Given the description of an element on the screen output the (x, y) to click on. 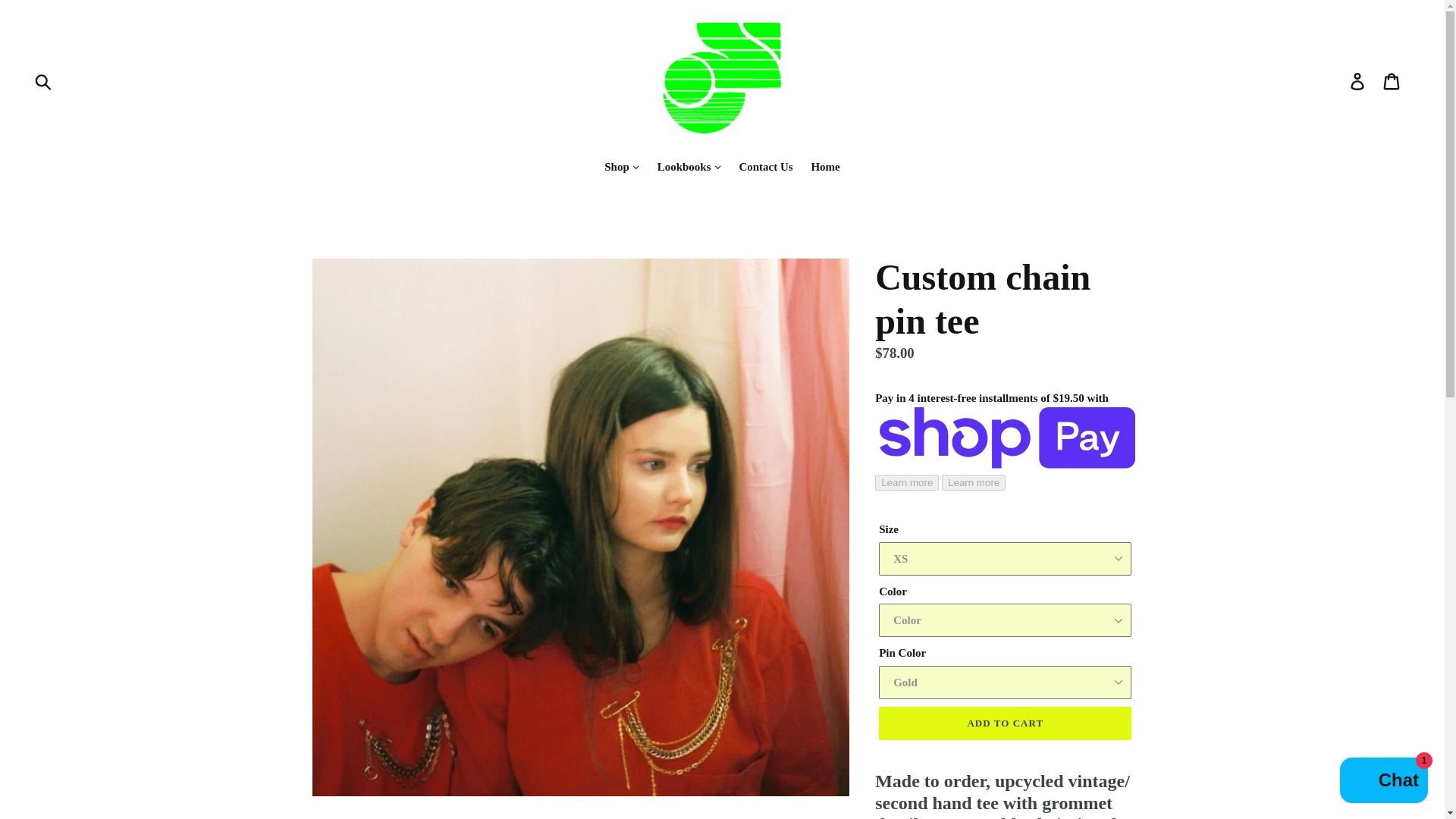
Submit (44, 80)
Cart (1392, 80)
Log in (1357, 80)
Shopify online store chat (1383, 781)
